Given the description of an element on the screen output the (x, y) to click on. 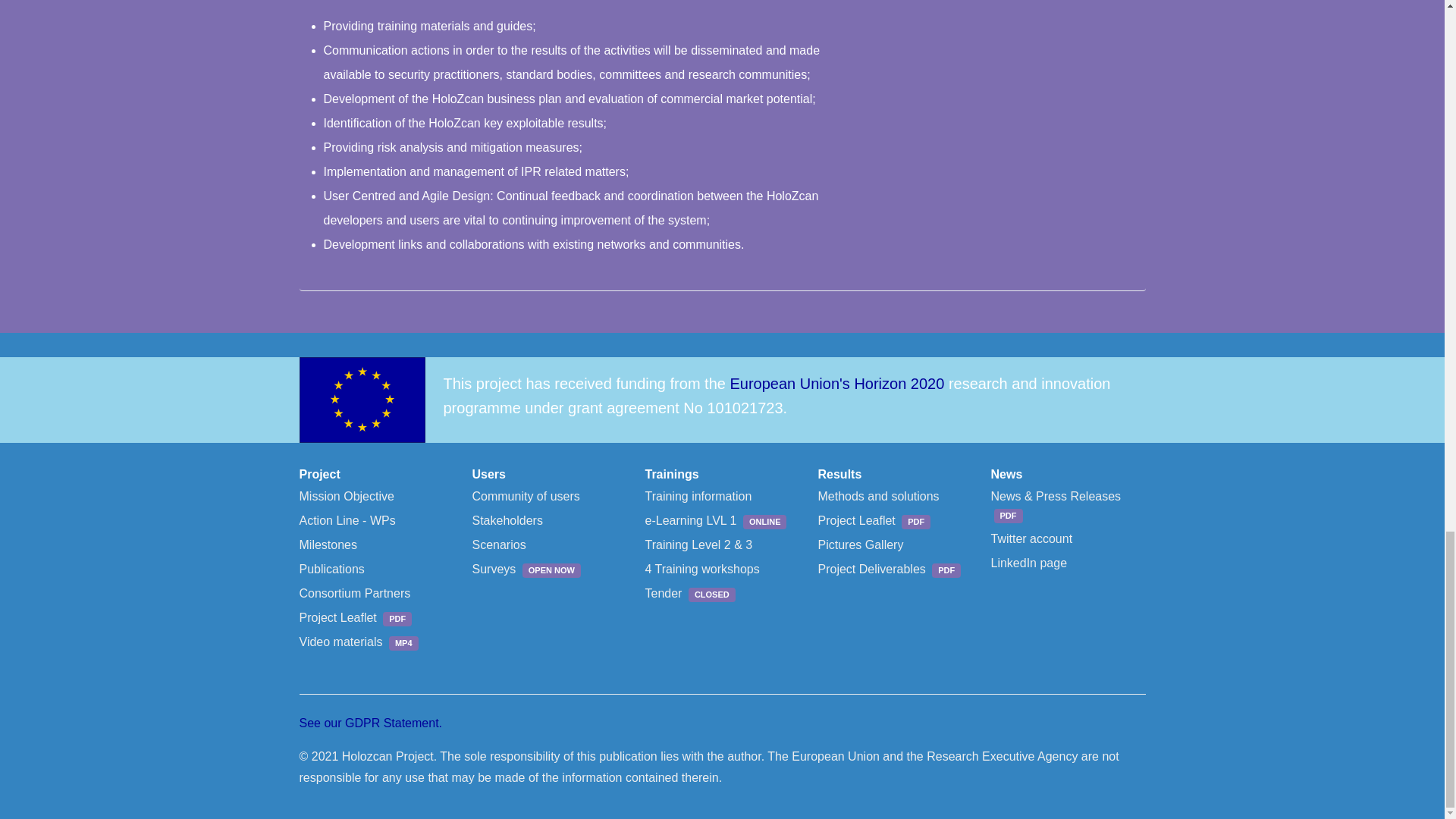
Mission Objective (345, 495)
European Union's Horizon 2020 (836, 383)
